Given the description of an element on the screen output the (x, y) to click on. 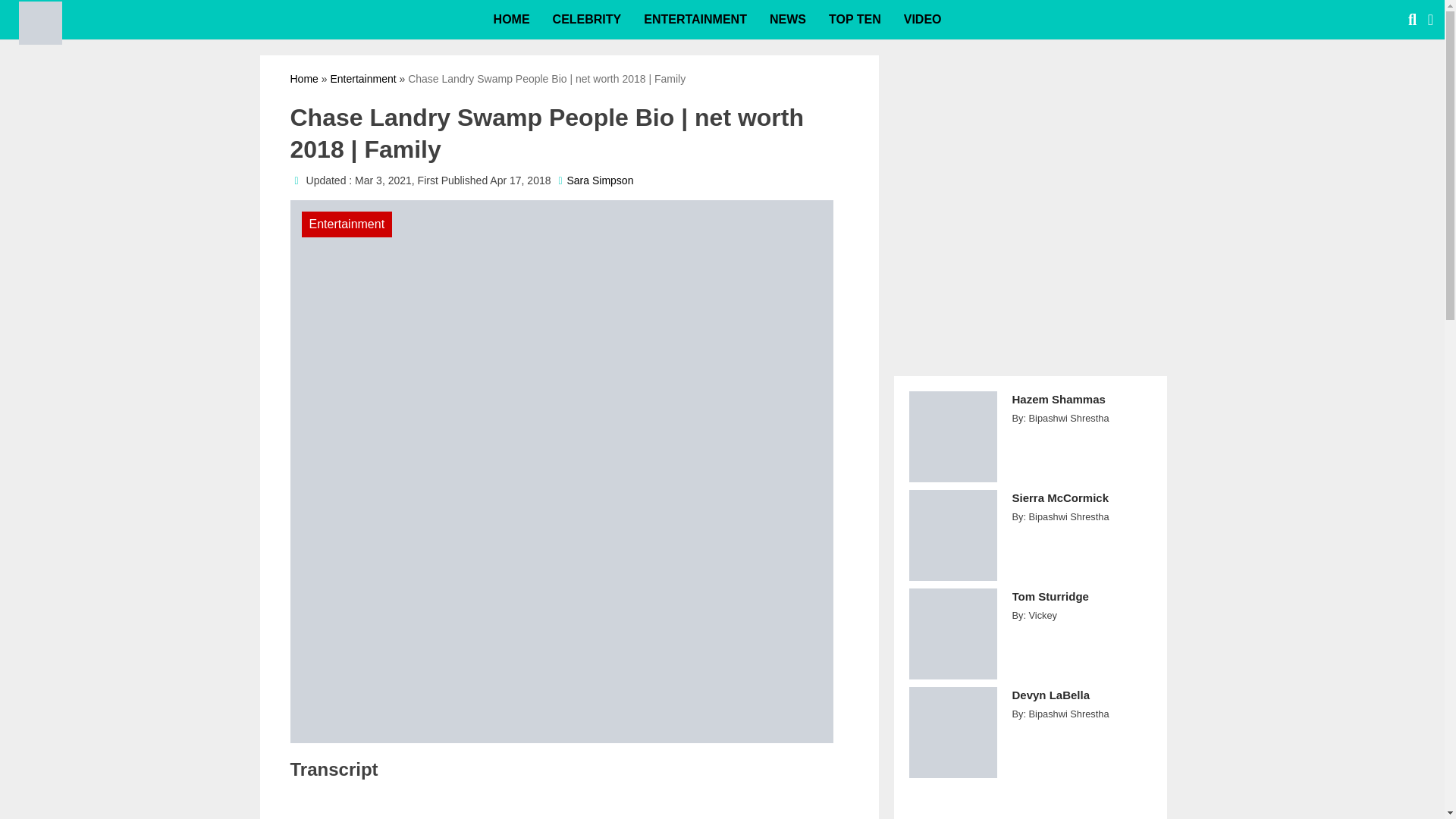
TOP TEN (854, 19)
Sierra McCormick (1081, 505)
Sara Simpson (600, 180)
Sara Simpson (600, 180)
HOME (511, 19)
ENTERTAINMENT (694, 19)
CELEBRITY (587, 19)
Home (303, 78)
Devyn LaBella (1081, 703)
Hazem Shammas (1081, 407)
